Given the description of an element on the screen output the (x, y) to click on. 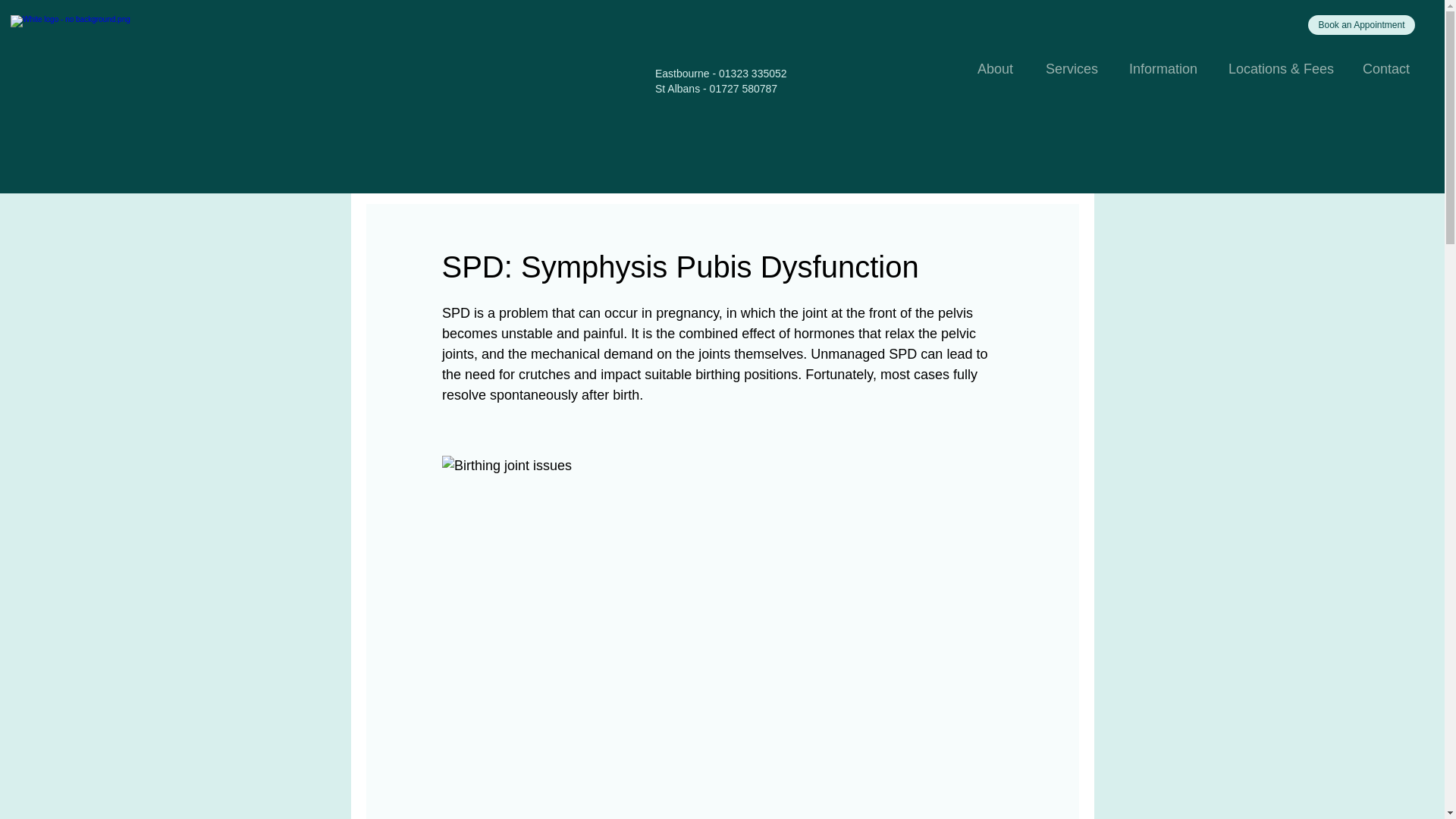
Information (1167, 68)
Book an Appointment (1361, 25)
Eastbourne - 01323 335052 (721, 73)
Contact (1389, 68)
St Albans - 01727 580787 (716, 88)
Eastbourne Osteopaths logo.jpg (120, 92)
About (999, 68)
